Given the description of an element on the screen output the (x, y) to click on. 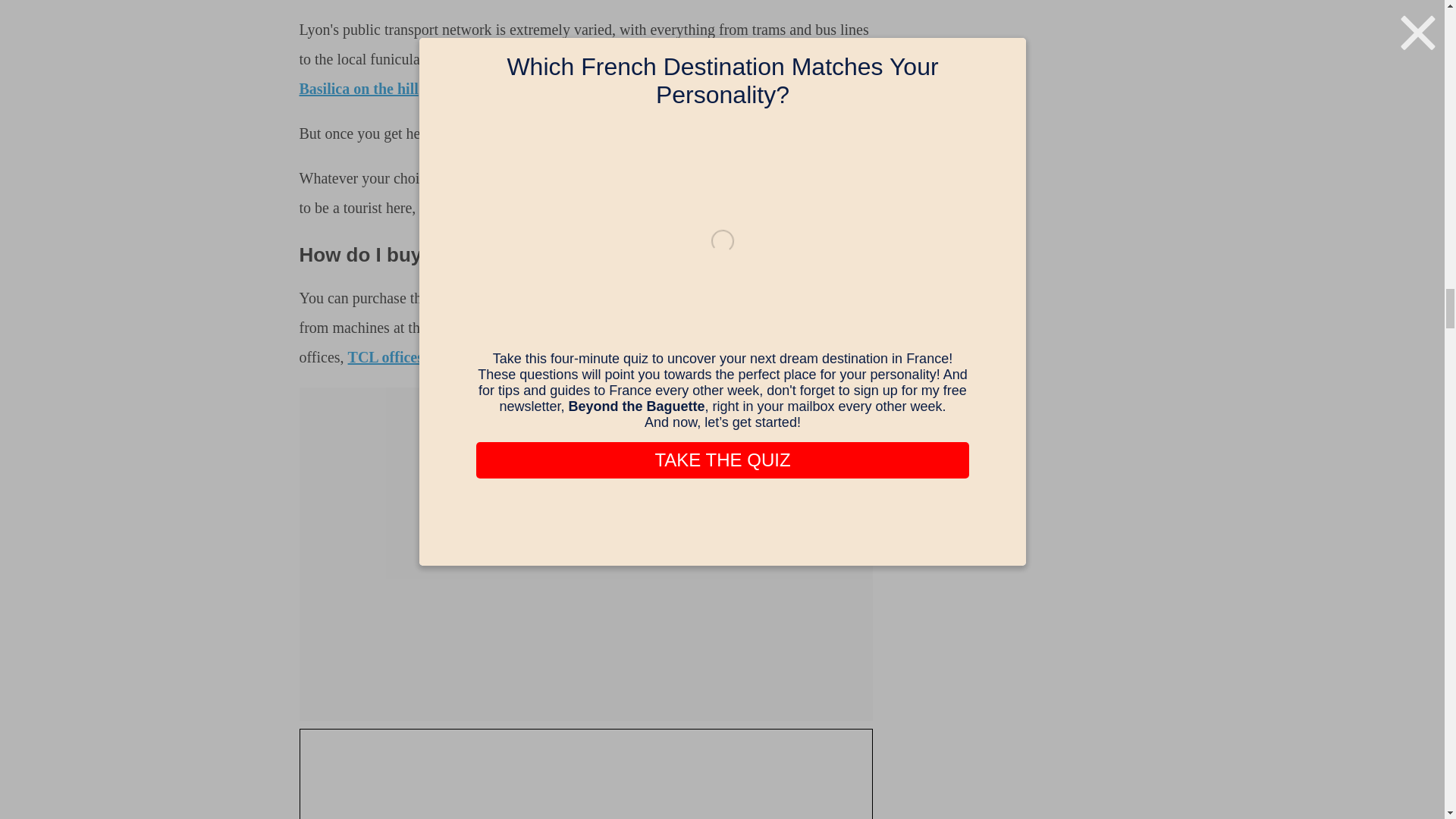
Lyon ticket machine (585, 780)
